Given the description of an element on the screen output the (x, y) to click on. 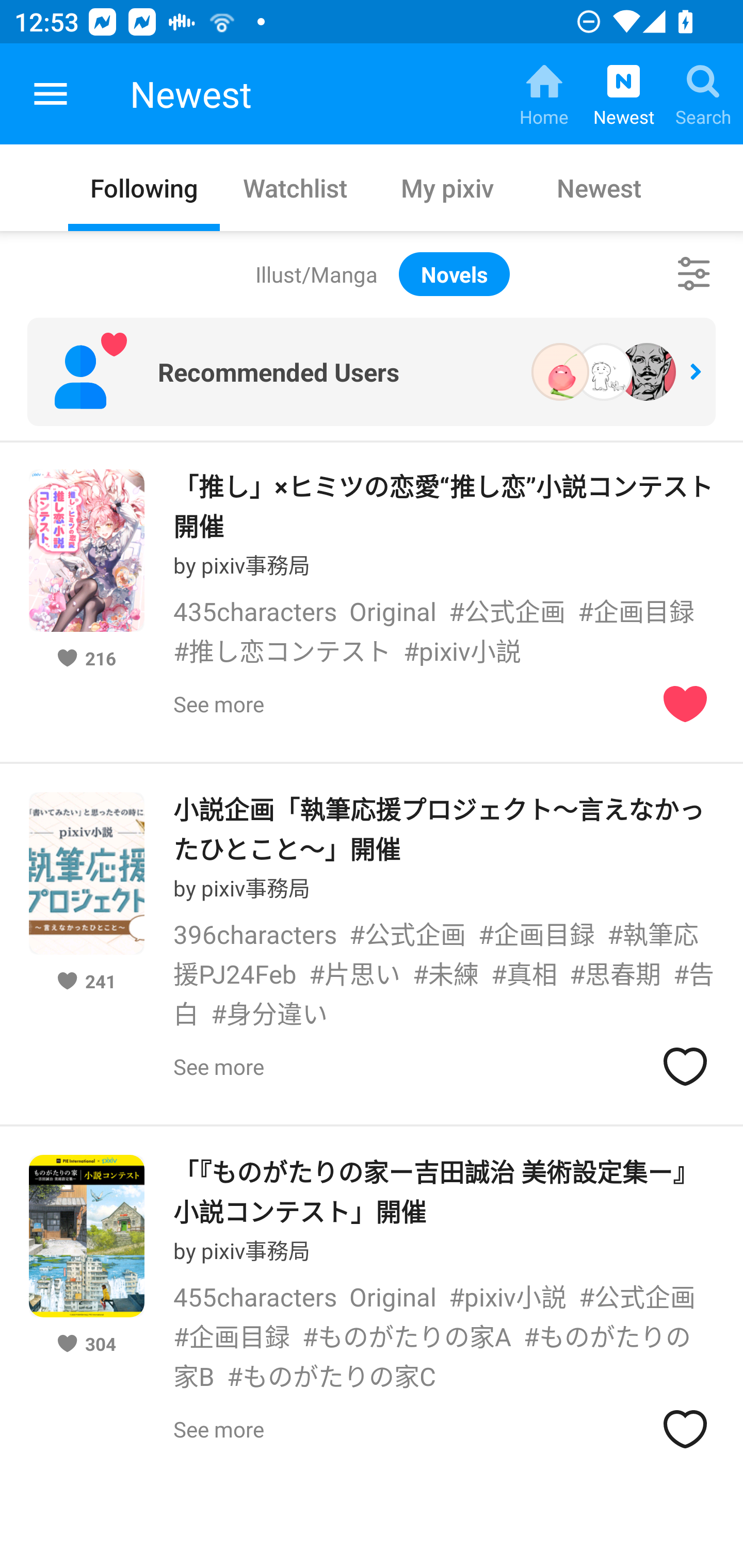
pixiv (50, 93)
Home (543, 93)
Search (703, 93)
Watchlist (295, 187)
My pixiv (447, 187)
Newest (598, 187)
Illust/Manga (315, 274)
Novels (453, 274)
Recommended Users (371, 372)
